Given the description of an element on the screen output the (x, y) to click on. 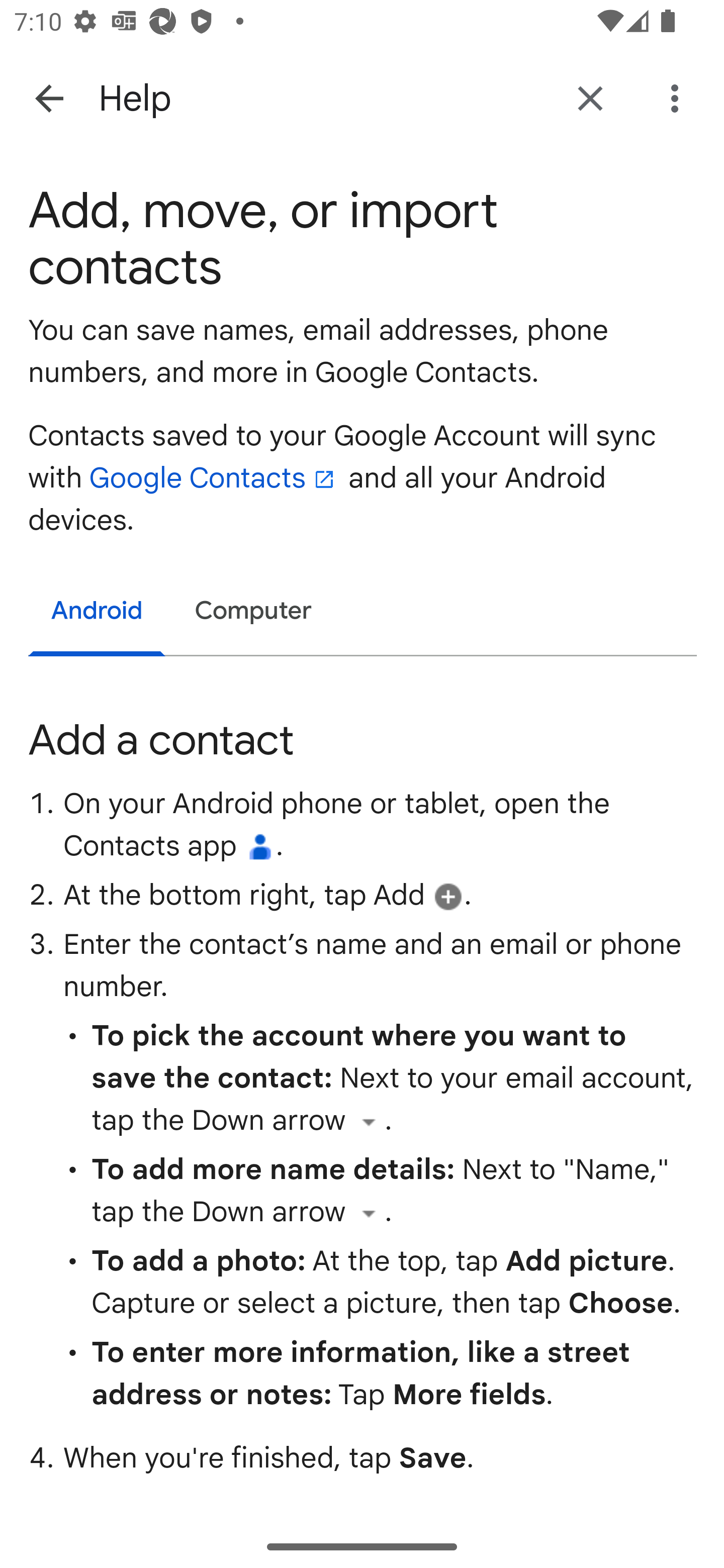
Navigate up (49, 97)
Return to Contacts (590, 98)
More options (678, 98)
Google Contacts (215, 478)
Android (97, 613)
Computer (252, 611)
